Given the description of an element on the screen output the (x, y) to click on. 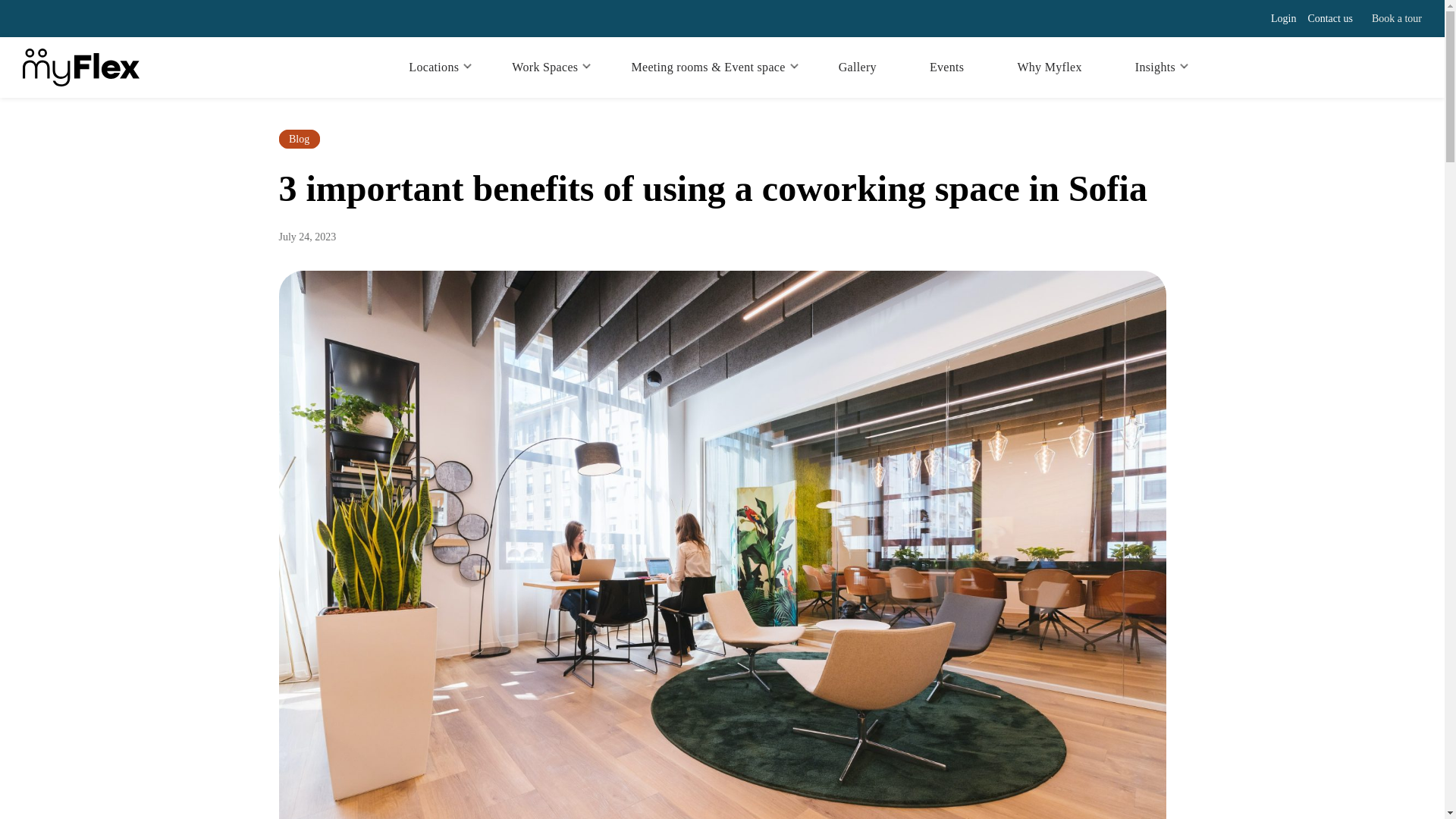
Work Spaces (544, 66)
Locations (432, 66)
Insights (1155, 66)
Gallery (857, 66)
Contact us (1329, 18)
Book a tour (1396, 18)
Login (1283, 18)
Events (946, 66)
Why Myflex (1049, 66)
